Given the description of an element on the screen output the (x, y) to click on. 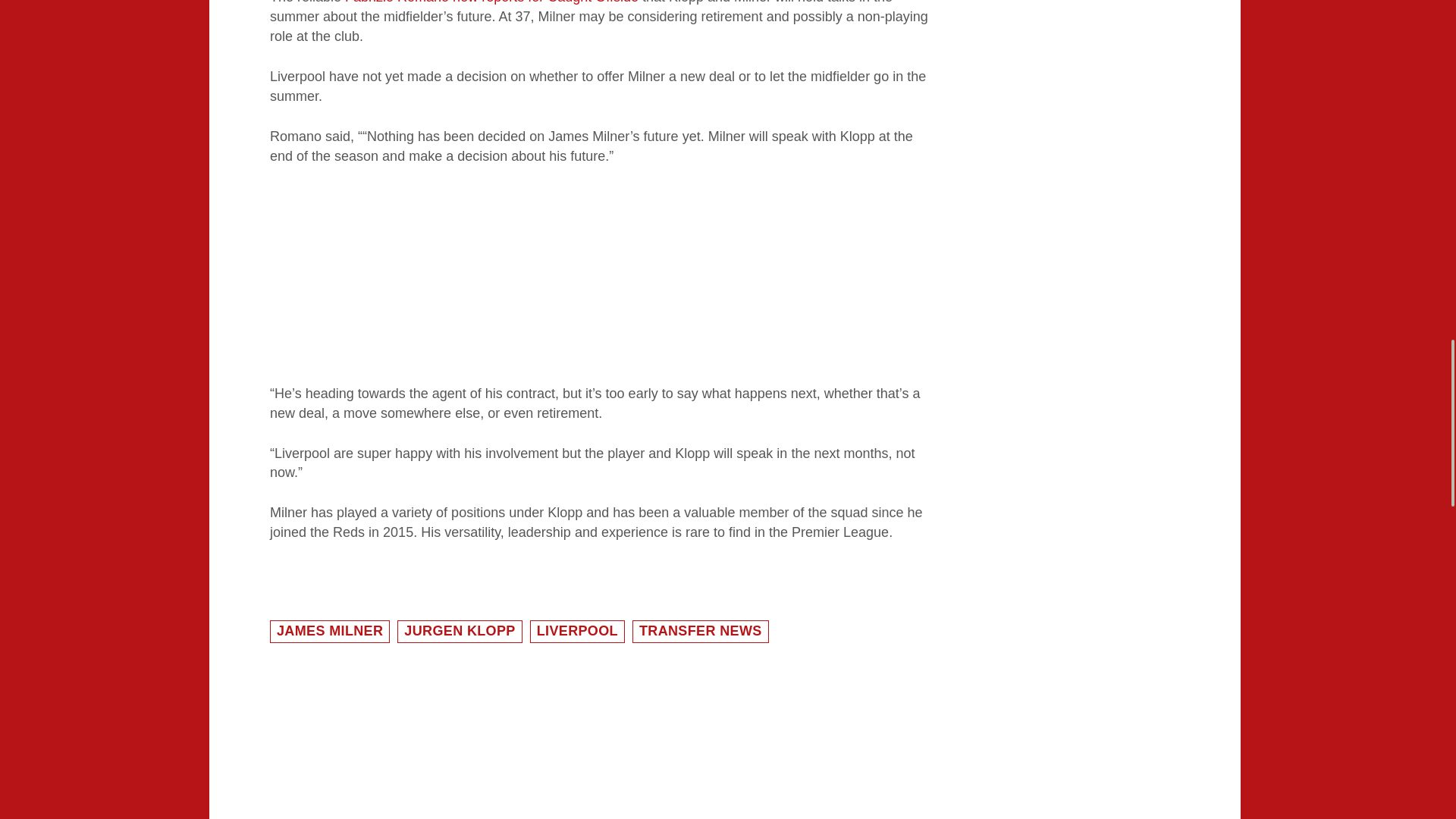
TRANSFER NEWS (699, 630)
LIVERPOOL (576, 630)
JAMES MILNER (329, 630)
Fabrizio Romano now reports for Caught Offside (492, 2)
JURGEN KLOPP (459, 630)
